Given the description of an element on the screen output the (x, y) to click on. 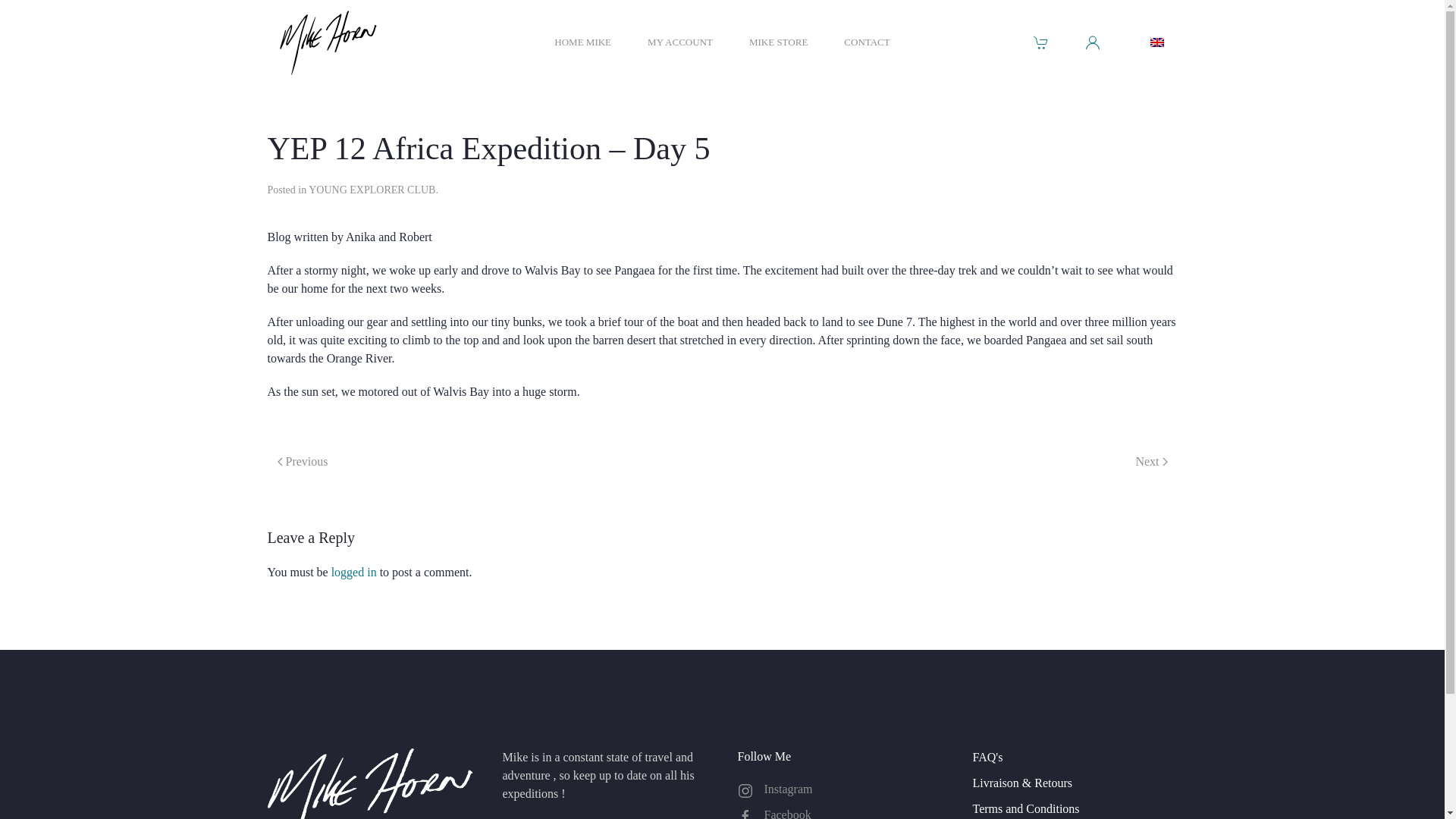
Facebook (839, 812)
MY ACCOUNT (680, 42)
HOME MIKE (582, 42)
CONTACT (866, 42)
Terms and Conditions (1074, 809)
Instagram (839, 789)
logged in (354, 571)
FAQ's (1074, 757)
YOUNG EXPLORER CLUB (371, 189)
Next (1150, 461)
MIKE STORE (778, 42)
Previous (301, 461)
